Given the description of an element on the screen output the (x, y) to click on. 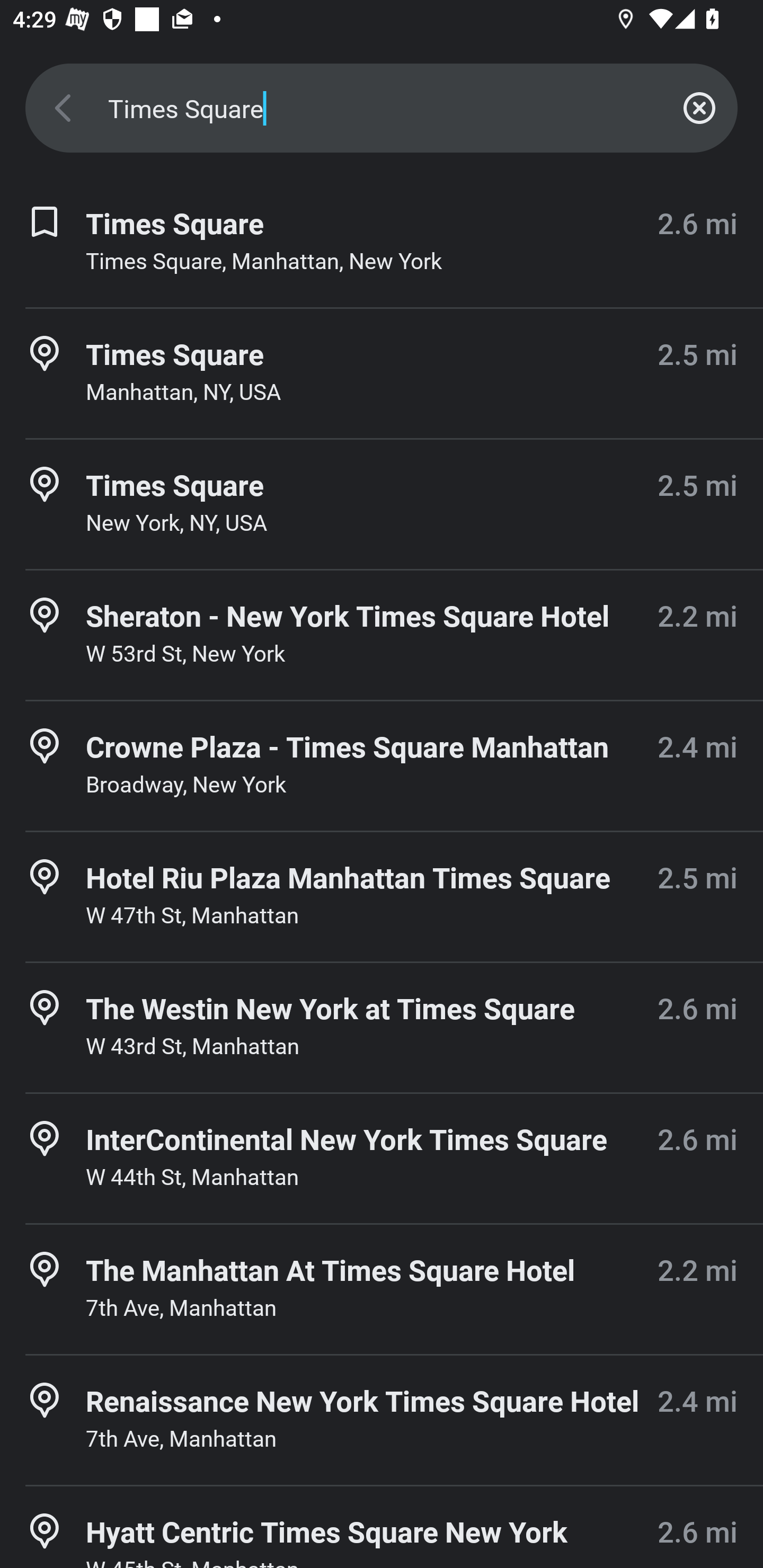
Times Square SEARCH_SCREEN_SEARCH_FIELD (381, 108)
Times Square 2.5 mi Manhattan, NY, USA (381, 372)
Times Square 2.5 mi New York, NY, USA (381, 504)
